Given the description of an element on the screen output the (x, y) to click on. 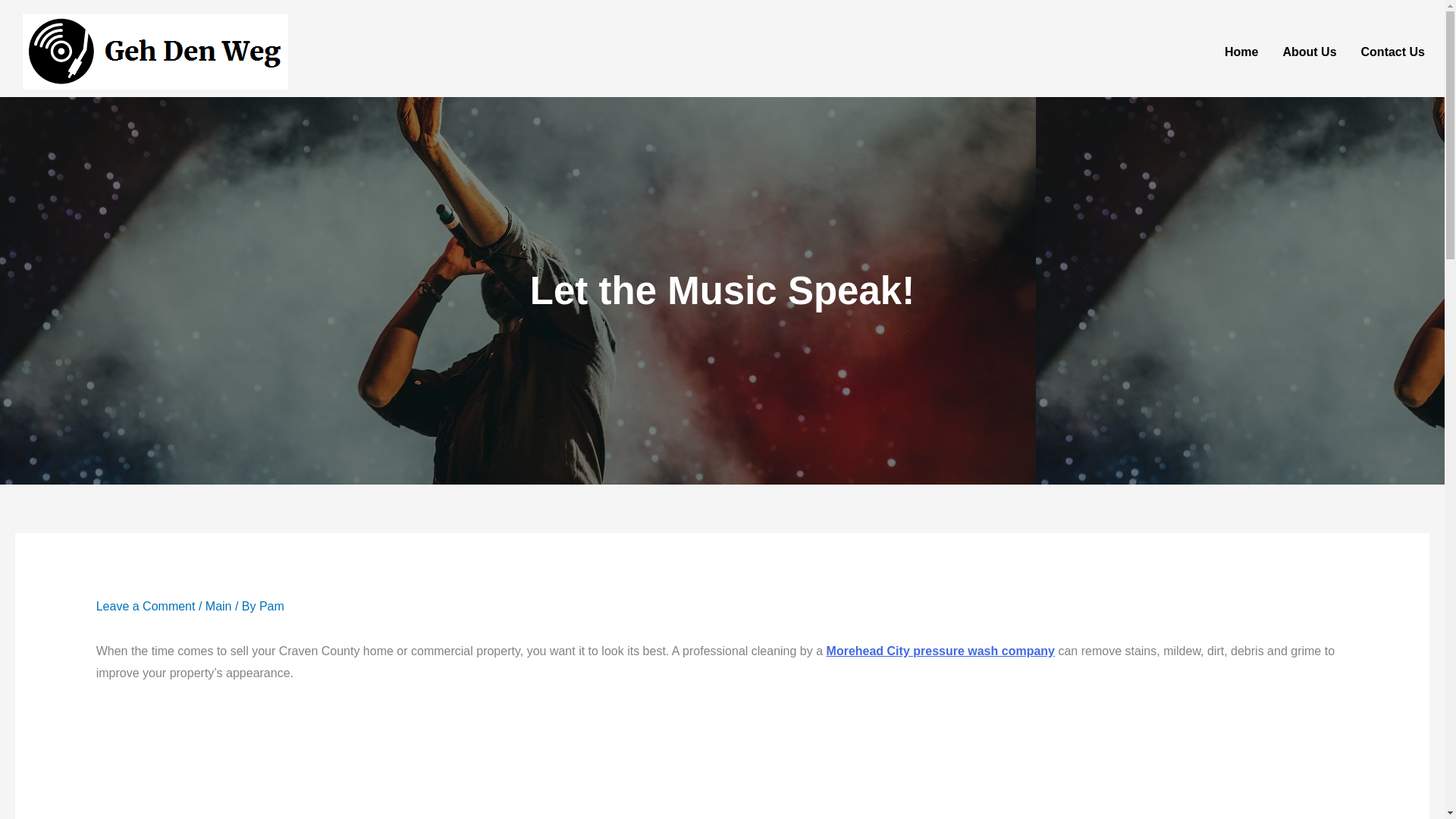
About Us (1308, 51)
Morehead City pressure wash company (940, 650)
Pam (271, 605)
View all posts by Pam (271, 605)
Home (1240, 51)
Contact Us (1393, 51)
Leave a Comment (145, 605)
Main (218, 605)
